Given the description of an element on the screen output the (x, y) to click on. 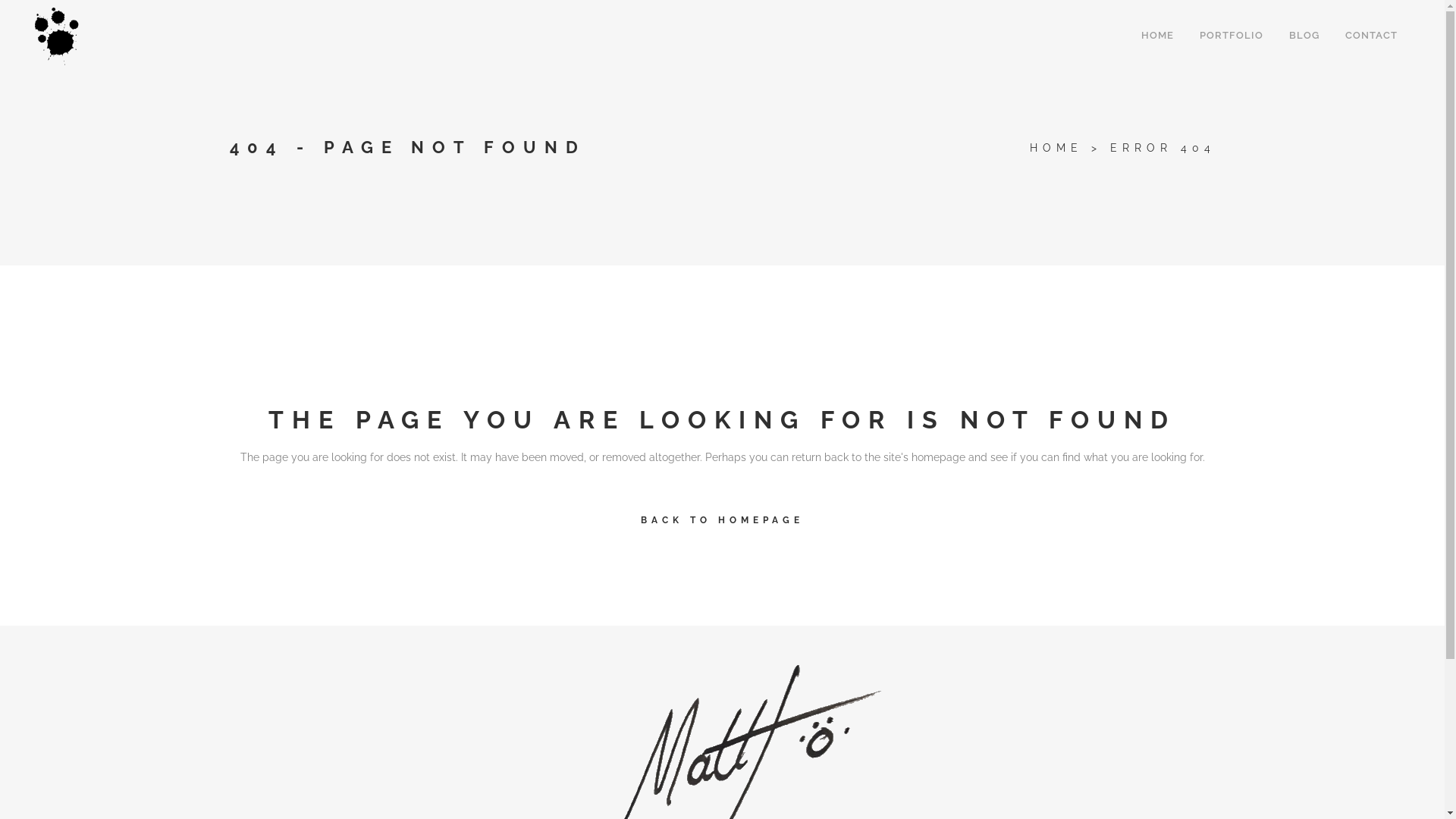
PORTFOLIO Element type: text (1231, 35)
BLOG Element type: text (1304, 35)
HOME Element type: text (1055, 147)
HOME Element type: text (1157, 35)
BACK TO HOMEPAGE Element type: text (722, 520)
CONTACT Element type: text (1371, 35)
